Given the description of an element on the screen output the (x, y) to click on. 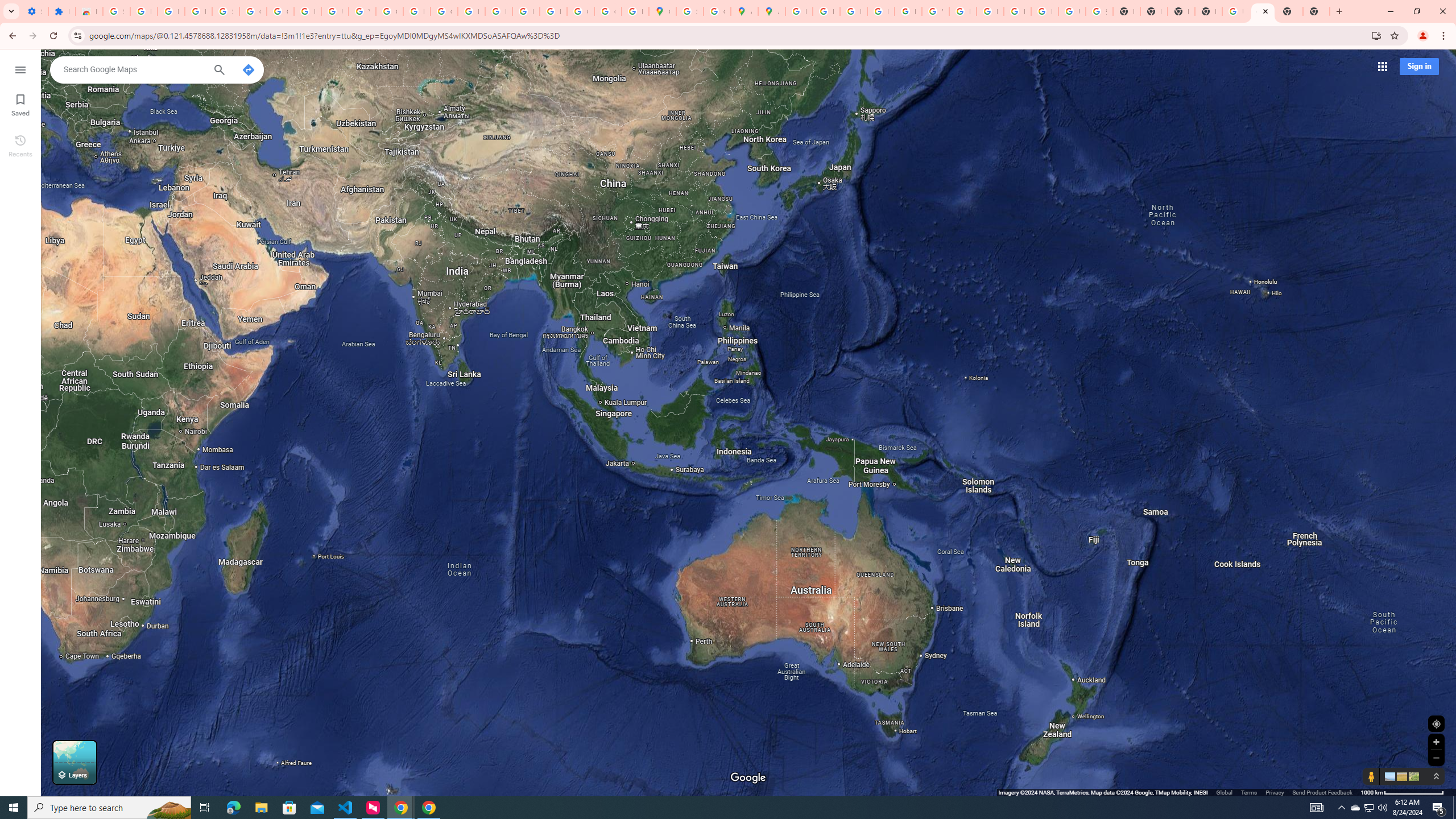
Settings - On startup (34, 11)
View site information (77, 35)
Google Account Help (280, 11)
New Tab (1338, 11)
Saved (20, 104)
Search Google Maps (133, 69)
Terms (1248, 792)
New Tab (1289, 11)
Sign in - Google Accounts (690, 11)
Search tabs (10, 11)
Zoom out (1436, 757)
Privacy Help Center - Policies Help (471, 11)
Learn how to find your photos - Google Photos Help (170, 11)
Install Google Maps (1376, 35)
